Given the description of an element on the screen output the (x, y) to click on. 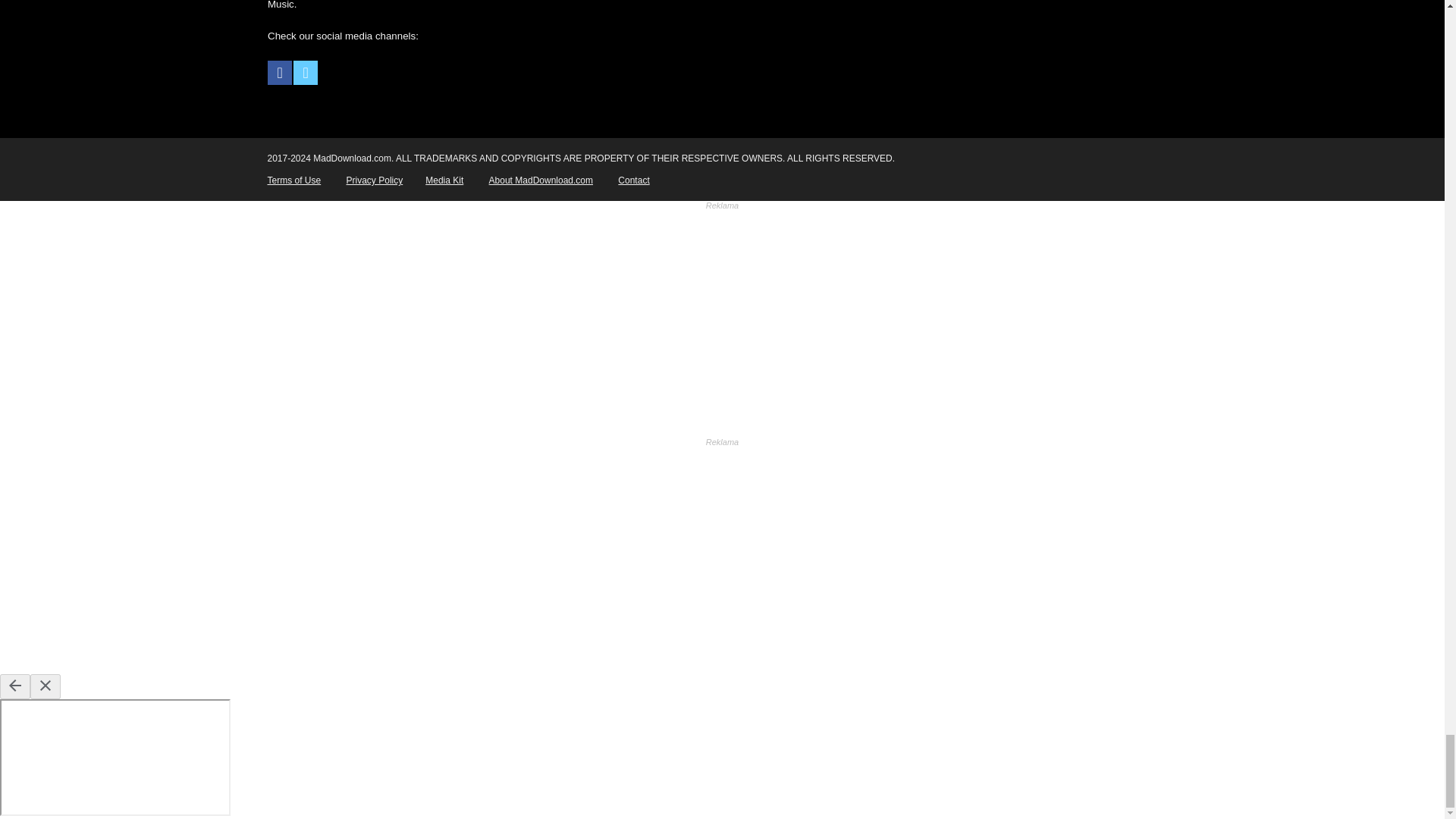
MadDownload Facebook Page (279, 72)
MadDownload Twitter Page (305, 72)
